Given the description of an element on the screen output the (x, y) to click on. 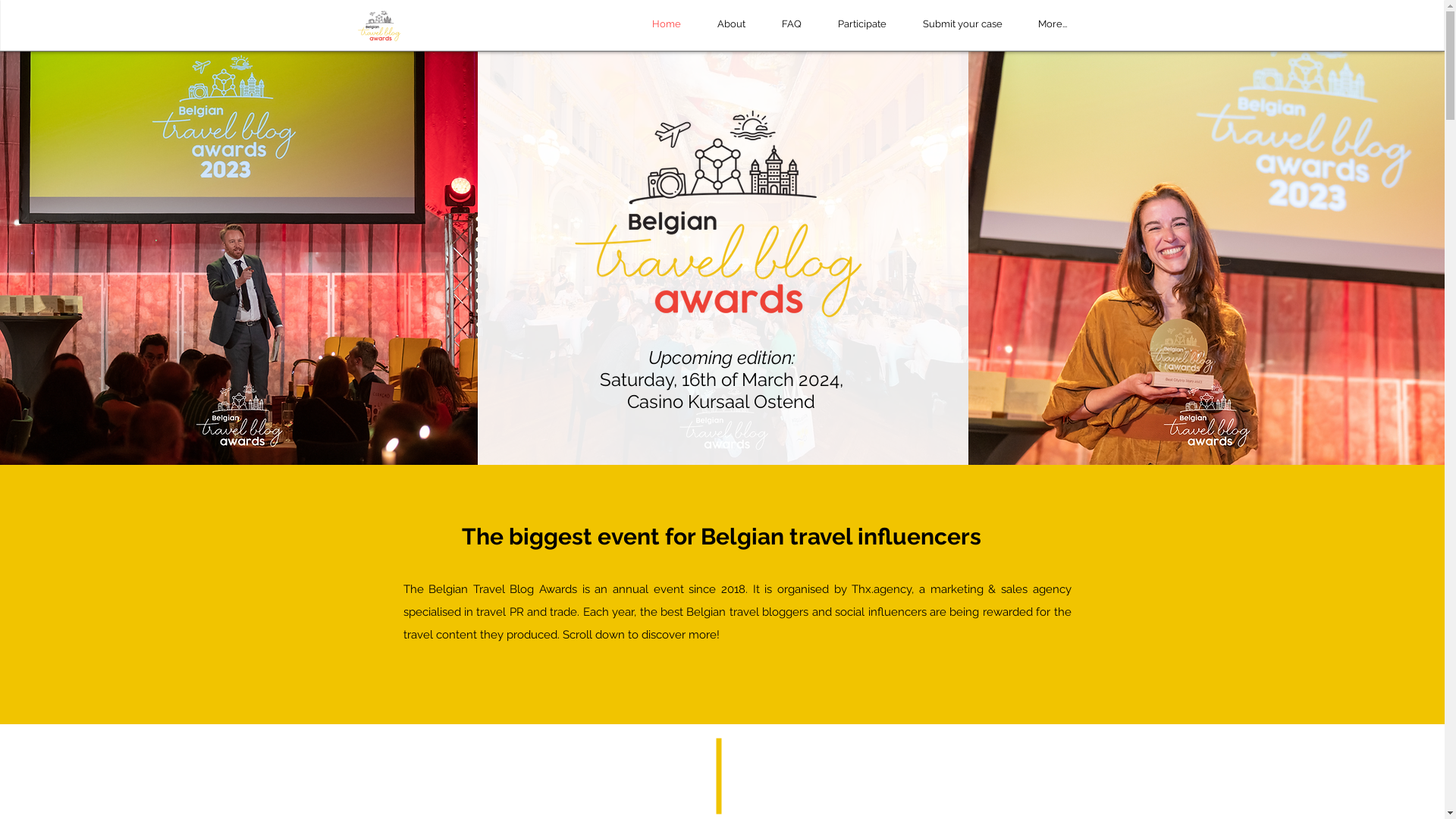
Submit your case Element type: text (961, 24)
FAQ Element type: text (790, 24)
Participate Element type: text (861, 24)
Home Element type: text (666, 24)
About Element type: text (731, 24)
